Given the description of an element on the screen output the (x, y) to click on. 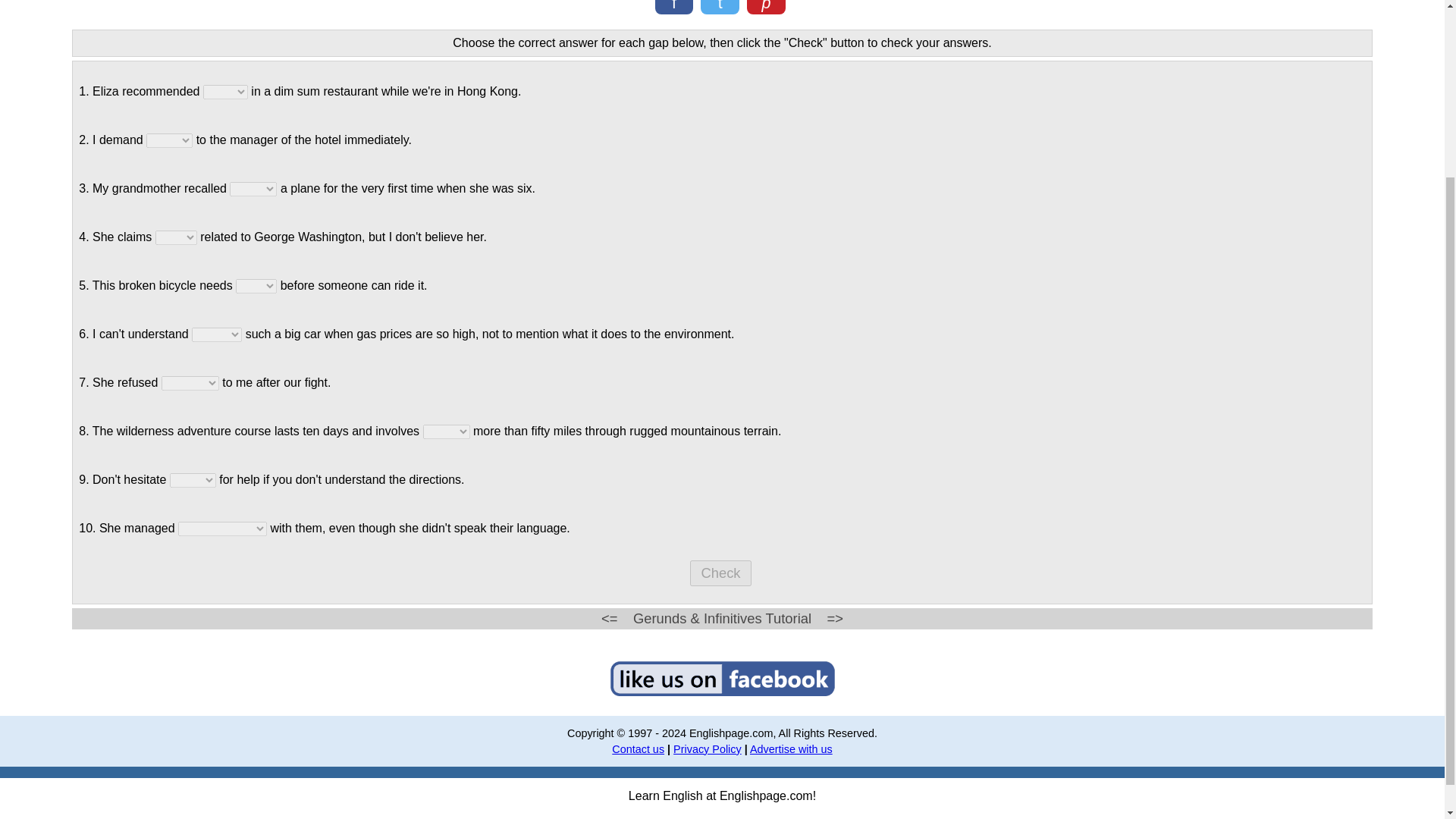
p (766, 6)
 Check  (720, 573)
Contact us (637, 748)
f (674, 6)
Advertise with us (790, 748)
t (719, 6)
Privacy Policy (706, 748)
